Given the description of an element on the screen output the (x, y) to click on. 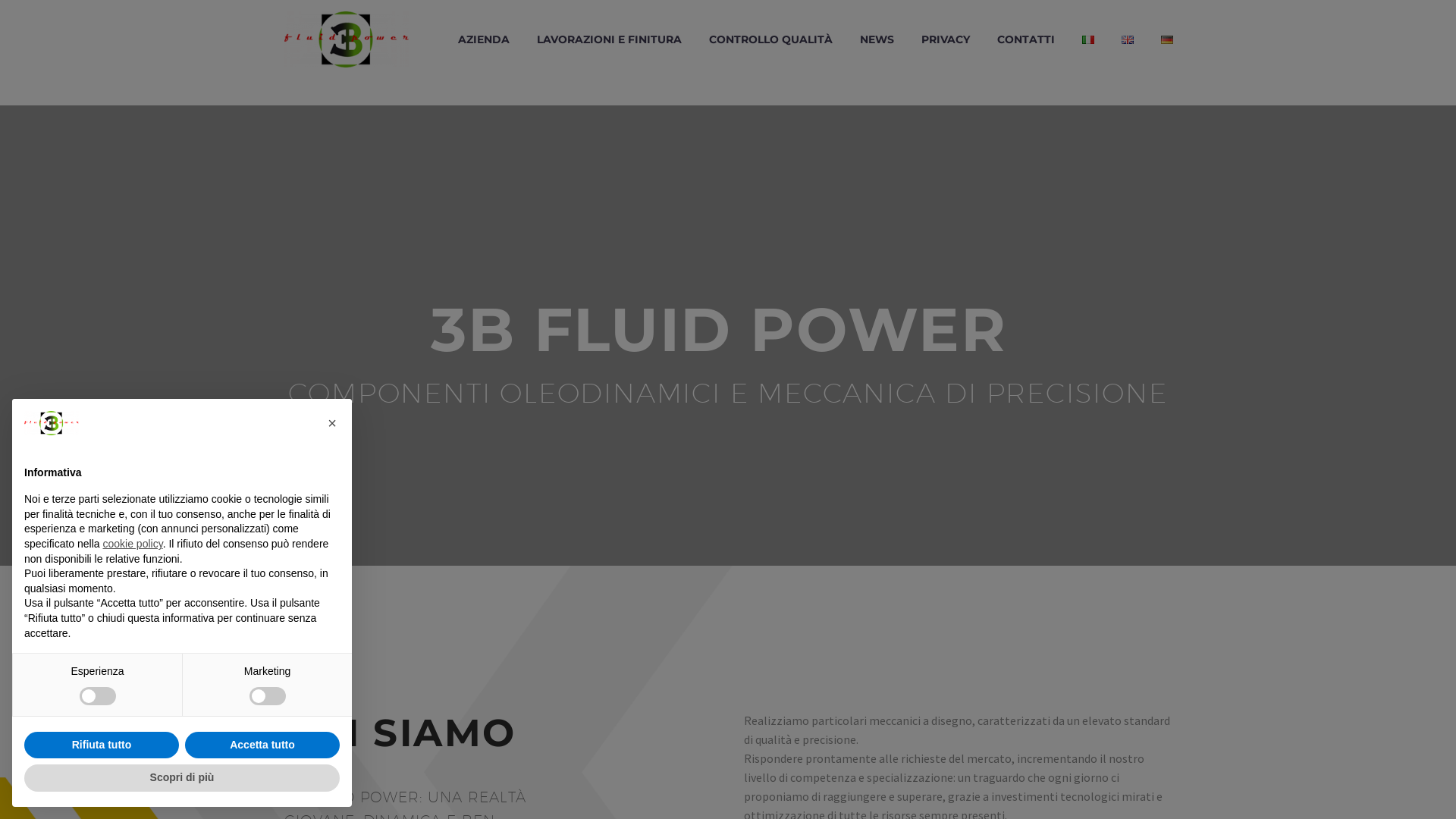
cookie policy Element type: text (133, 543)
AZIENDA Element type: text (483, 39)
PRIVACY Element type: text (945, 39)
LAVORAZIONI E FINITURA Element type: text (609, 39)
Accetta tutto Element type: text (262, 745)
NEWS Element type: text (876, 39)
CONTATTI Element type: text (1025, 39)
Rifiuta tutto Element type: text (101, 745)
